Given the description of an element on the screen output the (x, y) to click on. 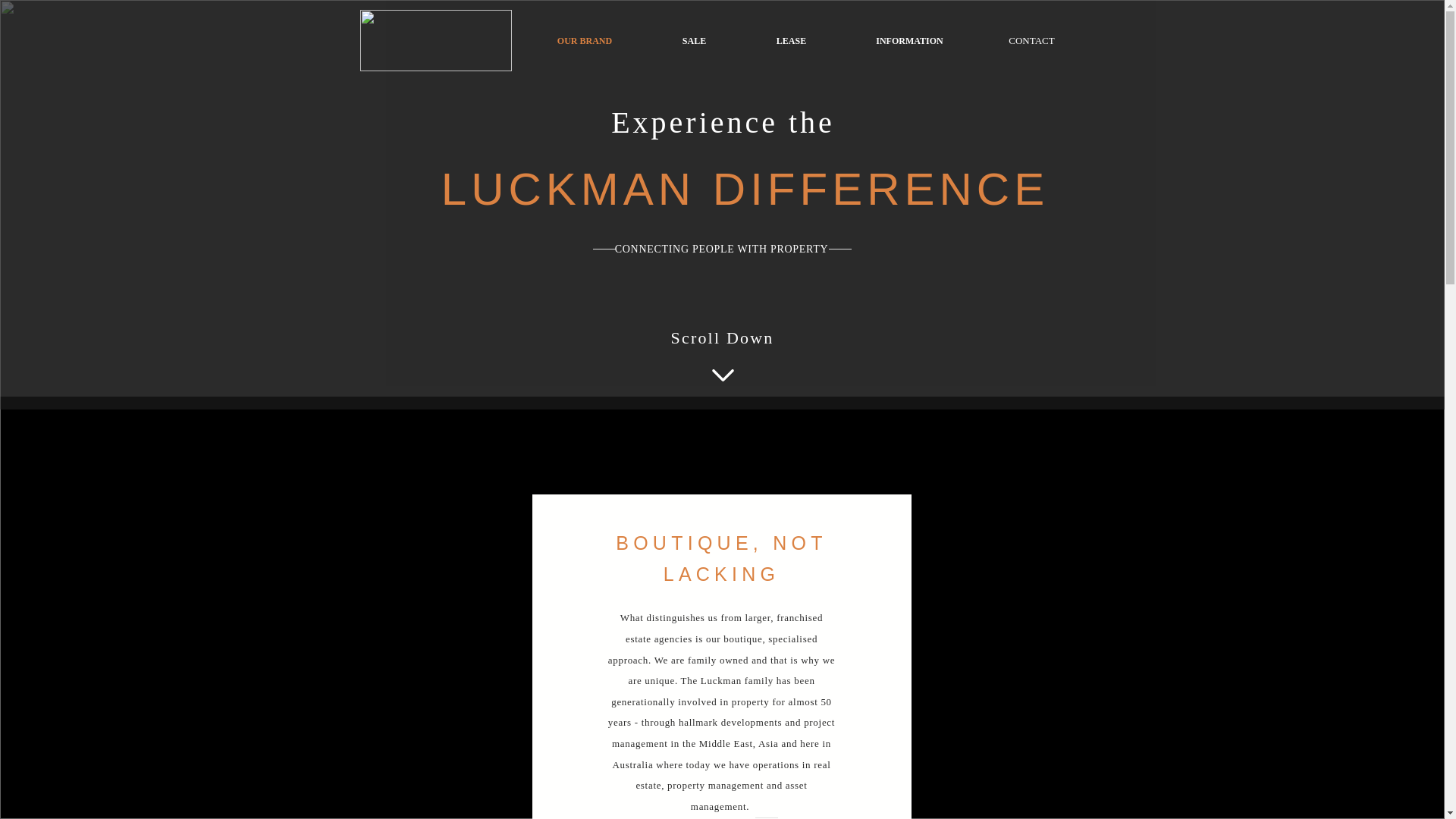
SALE Element type: text (694, 40)
CONTACT Element type: text (1031, 40)
INFORMATION Element type: text (909, 40)
OUR BRAND Element type: text (583, 40)
LEASE Element type: text (791, 40)
